Given the description of an element on the screen output the (x, y) to click on. 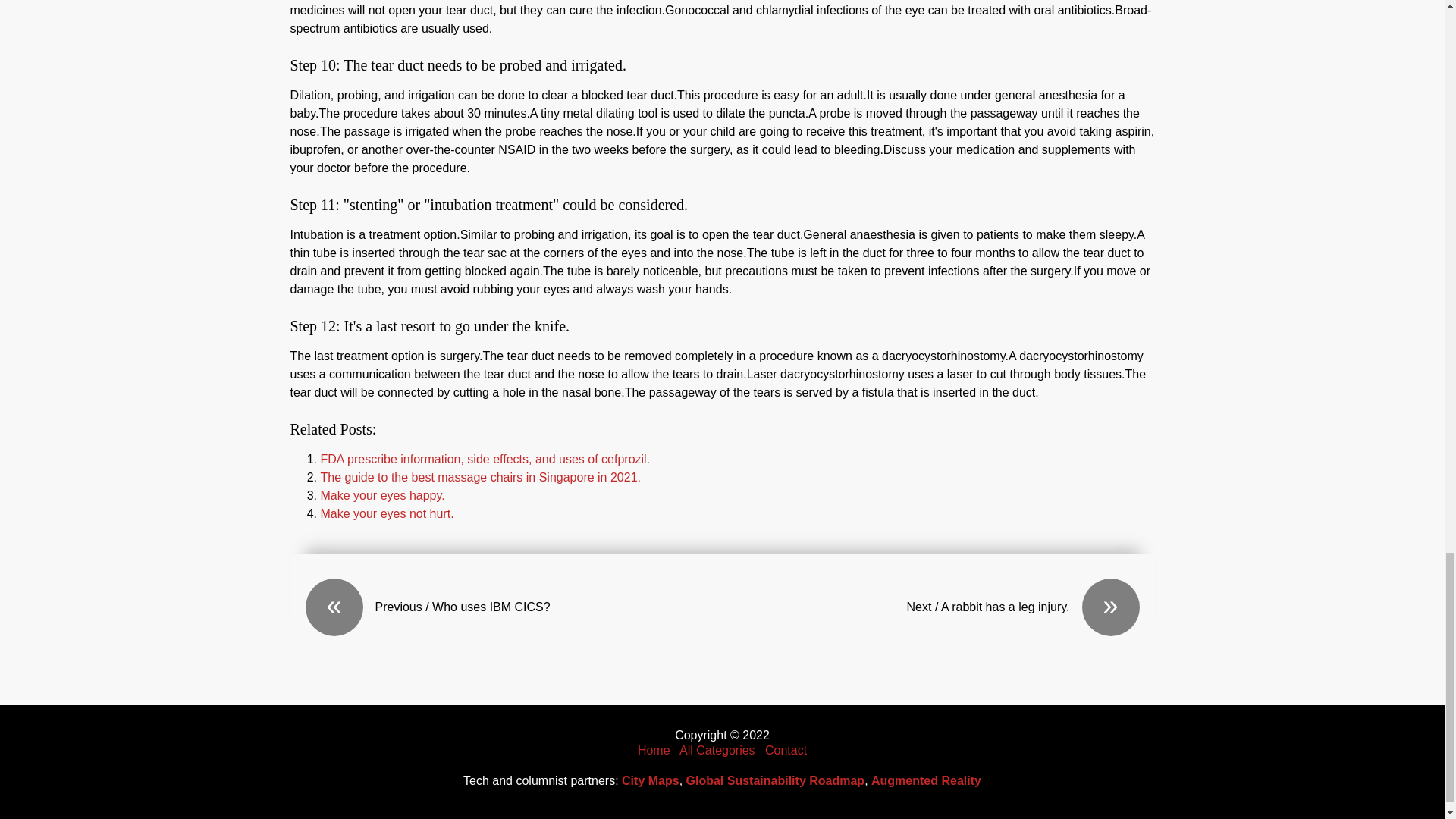
City Maps (650, 780)
Global Sustainability Roadmap (774, 780)
Home (653, 749)
The guide to the best massage chairs in Singapore in 2021. (480, 477)
Make your eyes happy. (382, 495)
Contact Us (785, 749)
Augmented Reality (925, 780)
Categories (717, 749)
All Categories (717, 749)
Who uses IBM CICS? (513, 606)
Contact (785, 749)
Make your eyes not hurt. (386, 513)
Parkers Legacy (653, 749)
A rabbit has a leg injury. (930, 606)
